Given the description of an element on the screen output the (x, y) to click on. 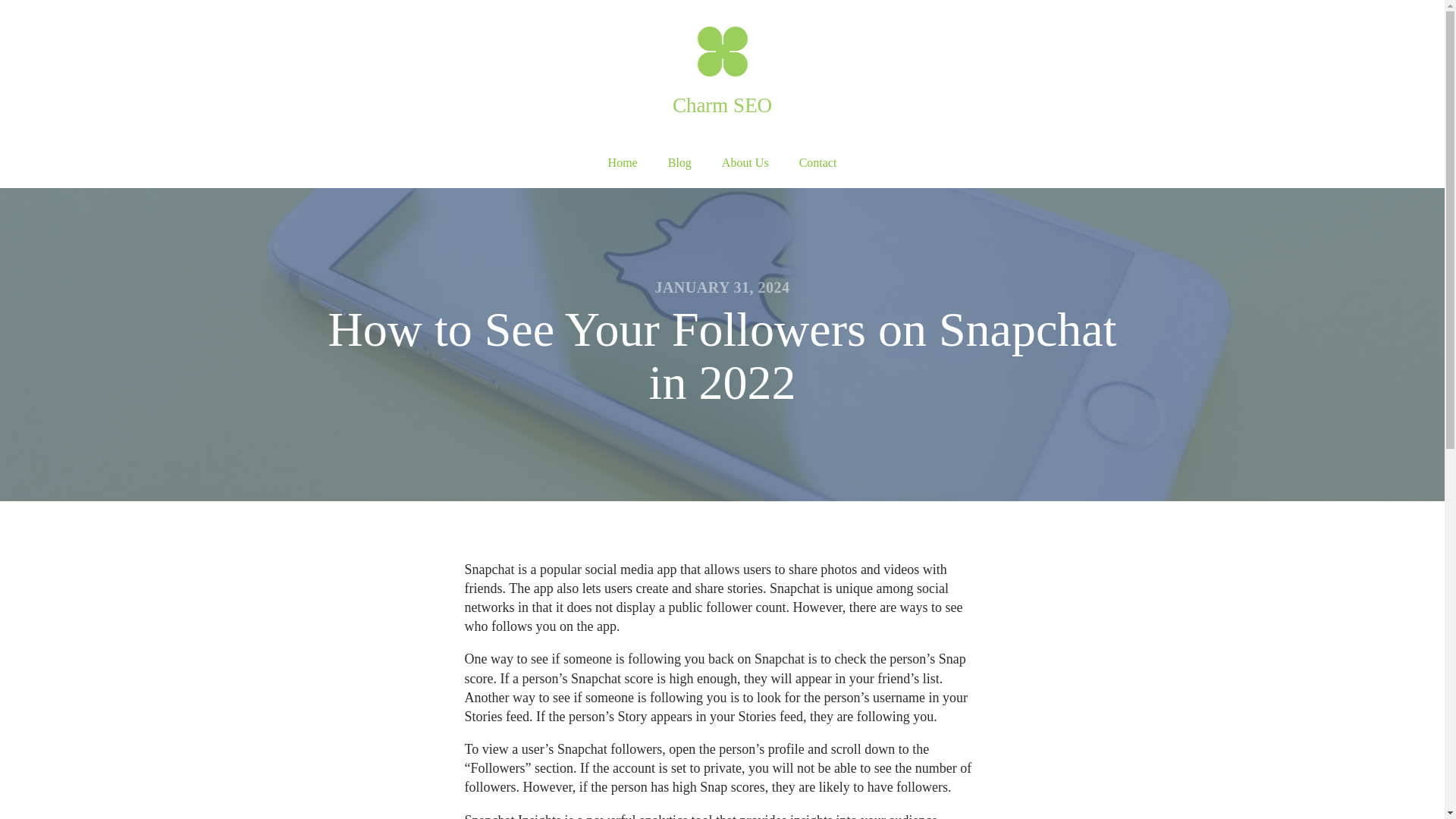
Contact (817, 163)
Blog (679, 163)
About Us (745, 163)
Home (622, 163)
